Given the description of an element on the screen output the (x, y) to click on. 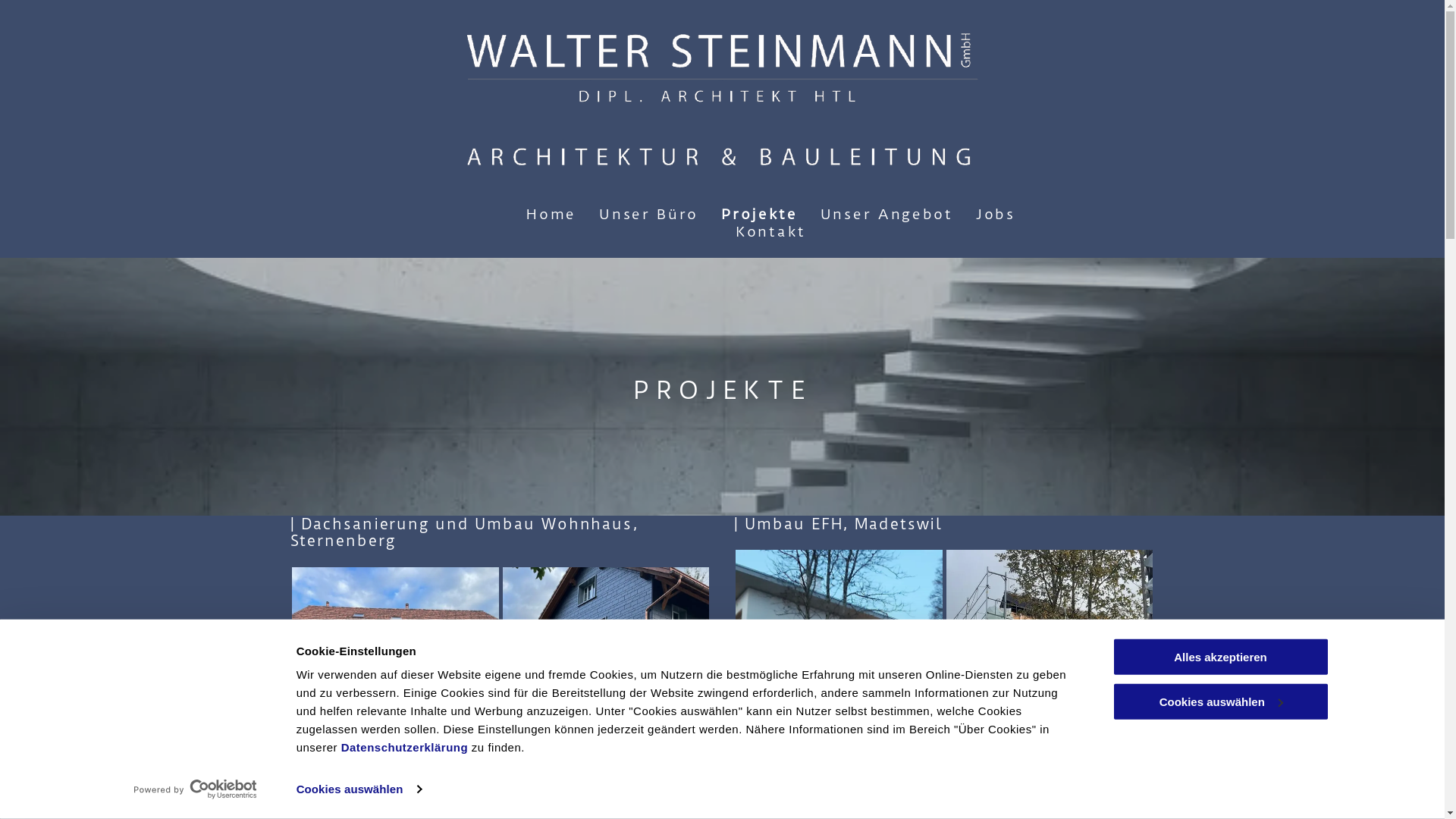
Home Element type: text (551, 213)
Unser Angebot Element type: text (886, 213)
Kontakt Element type: text (770, 231)
Projekte Element type: text (759, 213)
Jobs Element type: text (995, 213)
Alles akzeptieren Element type: text (1219, 656)
